Given the description of an element on the screen output the (x, y) to click on. 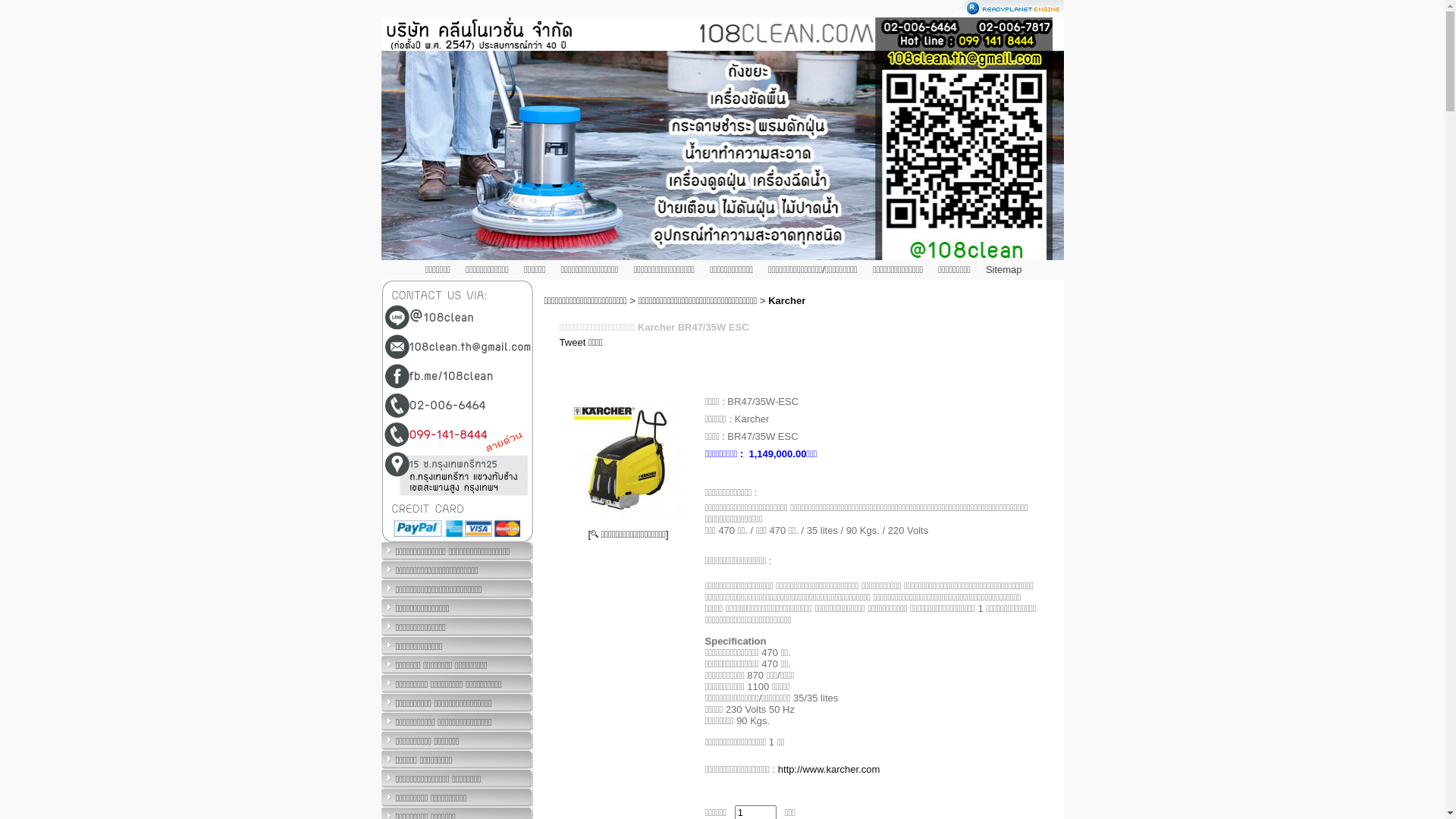
Sitemap Element type: text (1003, 269)
Karcher Element type: text (786, 300)
http://www.karcher.com Element type: text (828, 769)
ReadyPlanet.com Element type: hover (1007, 7)
